Given the description of an element on the screen output the (x, y) to click on. 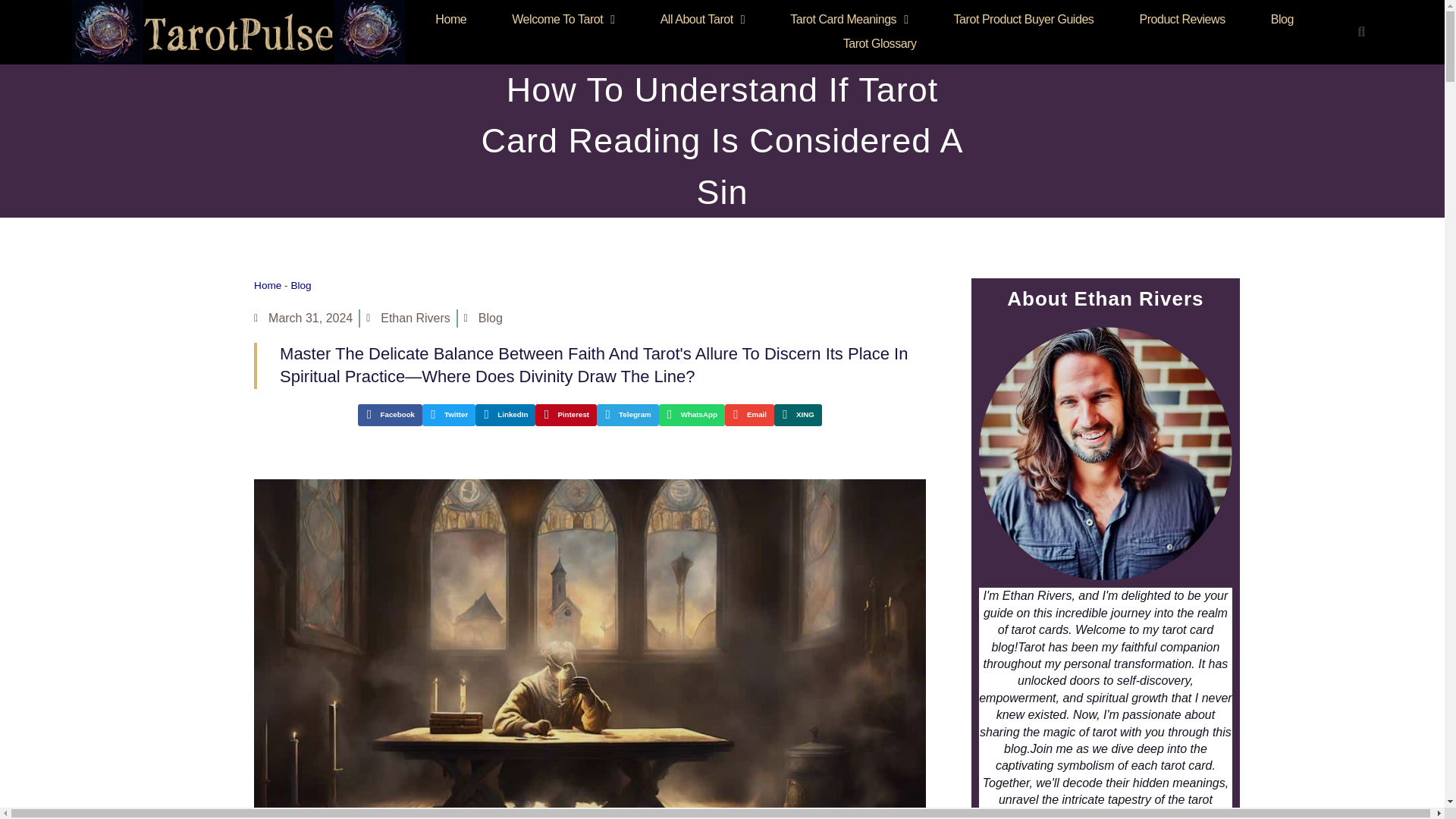
Tarot Product Buyer Guides (1024, 19)
Tarot Glossary (879, 43)
Blog (1282, 19)
Tarot Card Meanings (849, 19)
Product Reviews (1181, 19)
All About Tarot (702, 19)
Welcome To Tarot (562, 19)
Home (451, 19)
